Given the description of an element on the screen output the (x, y) to click on. 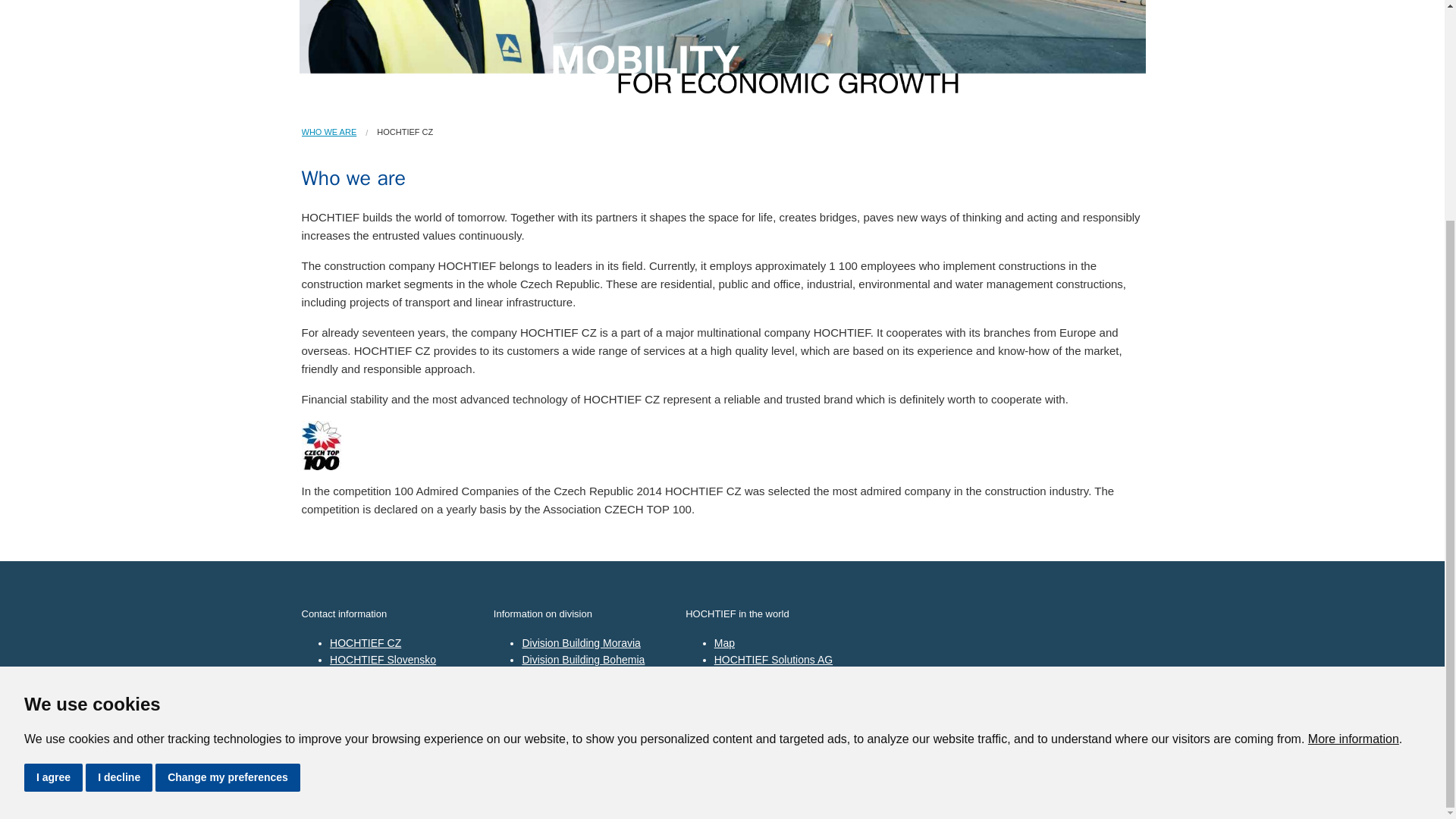
HOCHTIEF CZ (365, 643)
I agree (53, 484)
Change my preferences (227, 484)
HOCHTIEF Slovensko (382, 659)
More information (1353, 445)
I decline (118, 484)
Division Building Moravia (580, 643)
HOCHTIEF Facility Management (375, 684)
Who we are (328, 131)
WHO WE ARE (328, 131)
